Given the description of an element on the screen output the (x, y) to click on. 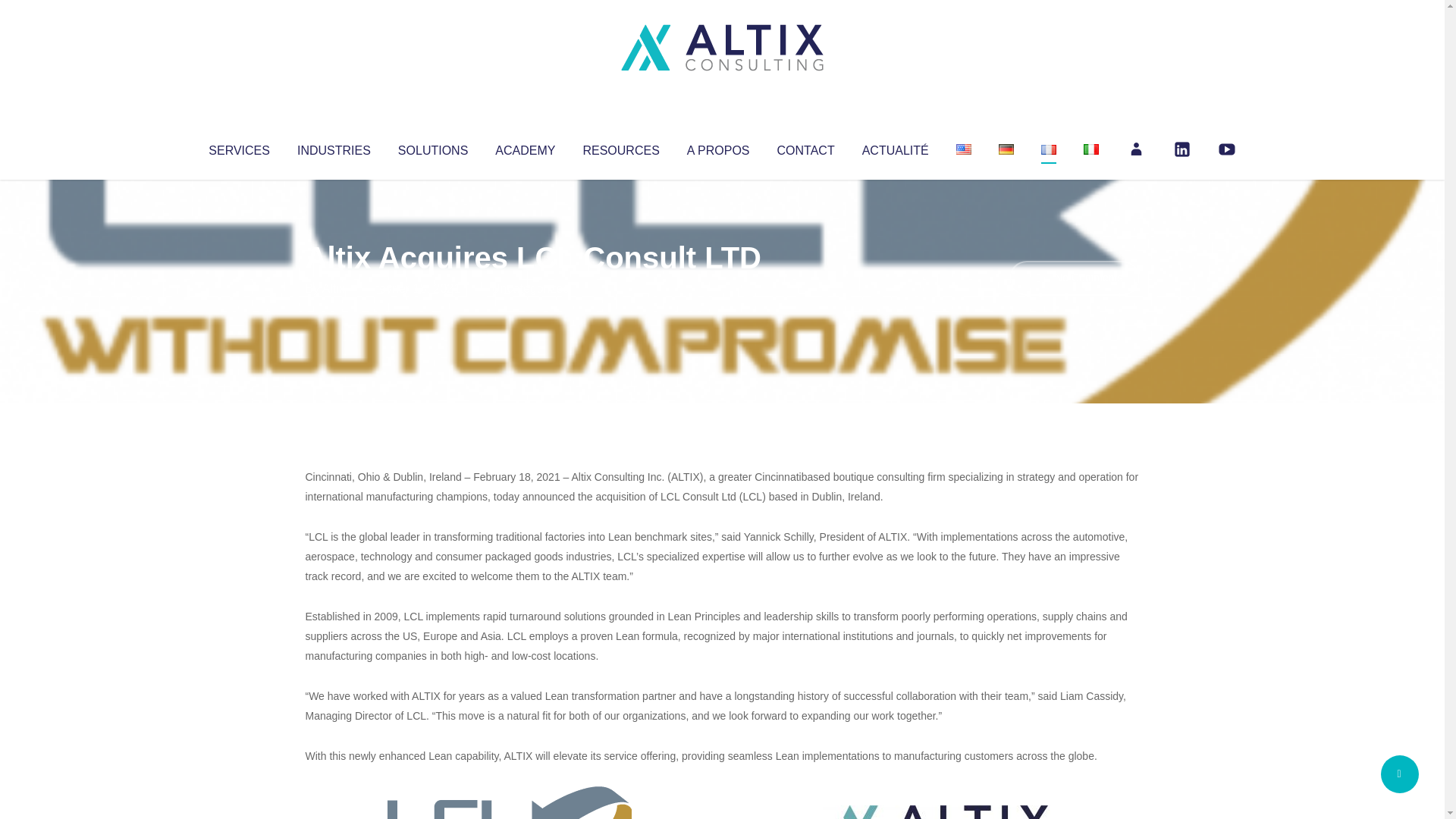
Articles par Altix (333, 287)
Altix (333, 287)
A PROPOS (718, 146)
SERVICES (238, 146)
ACADEMY (524, 146)
RESOURCES (620, 146)
INDUSTRIES (334, 146)
SOLUTIONS (432, 146)
Uncategorized (530, 287)
No Comments (1073, 278)
